Given the description of an element on the screen output the (x, y) to click on. 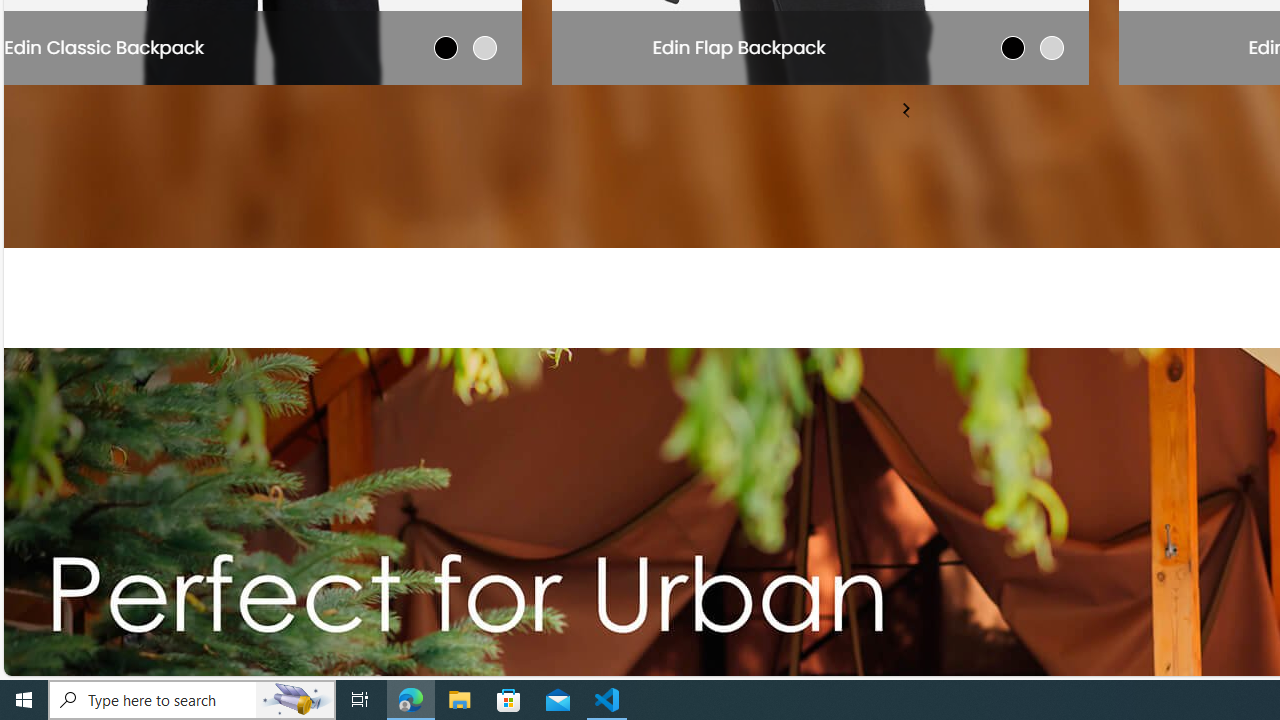
Class: flickity-button-icon (905, 107)
Previous (907, 112)
Next (905, 107)
Edin Classic Backpack (103, 46)
Light Gray (484, 47)
Black (446, 47)
